Given the description of an element on the screen output the (x, y) to click on. 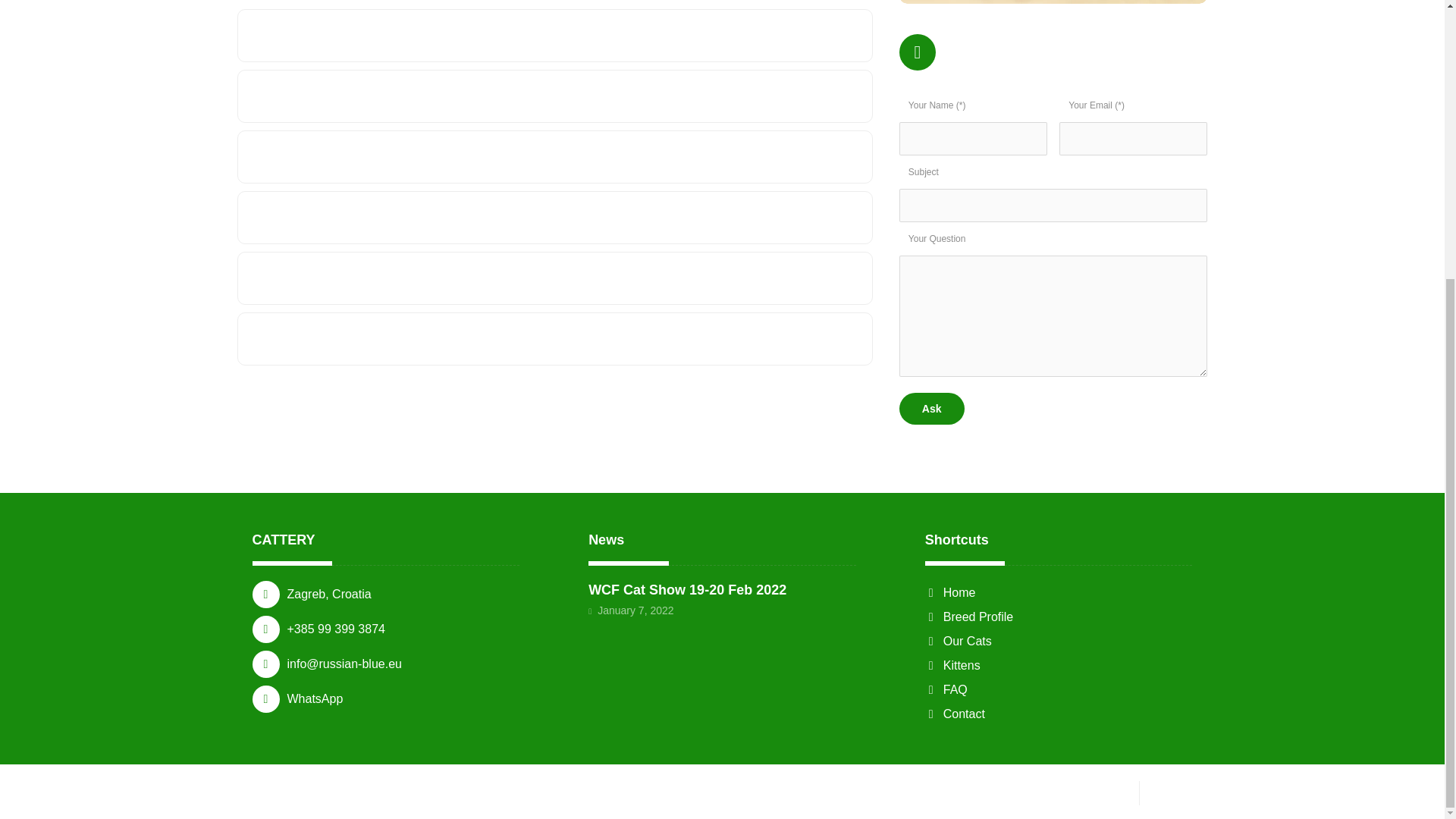
FAQ (946, 689)
Contact (954, 713)
WCF Cat Show 19-20 Feb 2022 (687, 589)
Home (949, 592)
Our Cats (957, 640)
WhatsApp (384, 698)
Contact Us (1180, 790)
Zagreb, Croatia (384, 594)
Kittens (951, 665)
Breed Profile (968, 616)
Ask (931, 409)
roksi1 (1053, 2)
Privacy Policy (1091, 790)
WCF Cat Show 19-20 Feb 2022 (687, 589)
